Given the description of an element on the screen output the (x, y) to click on. 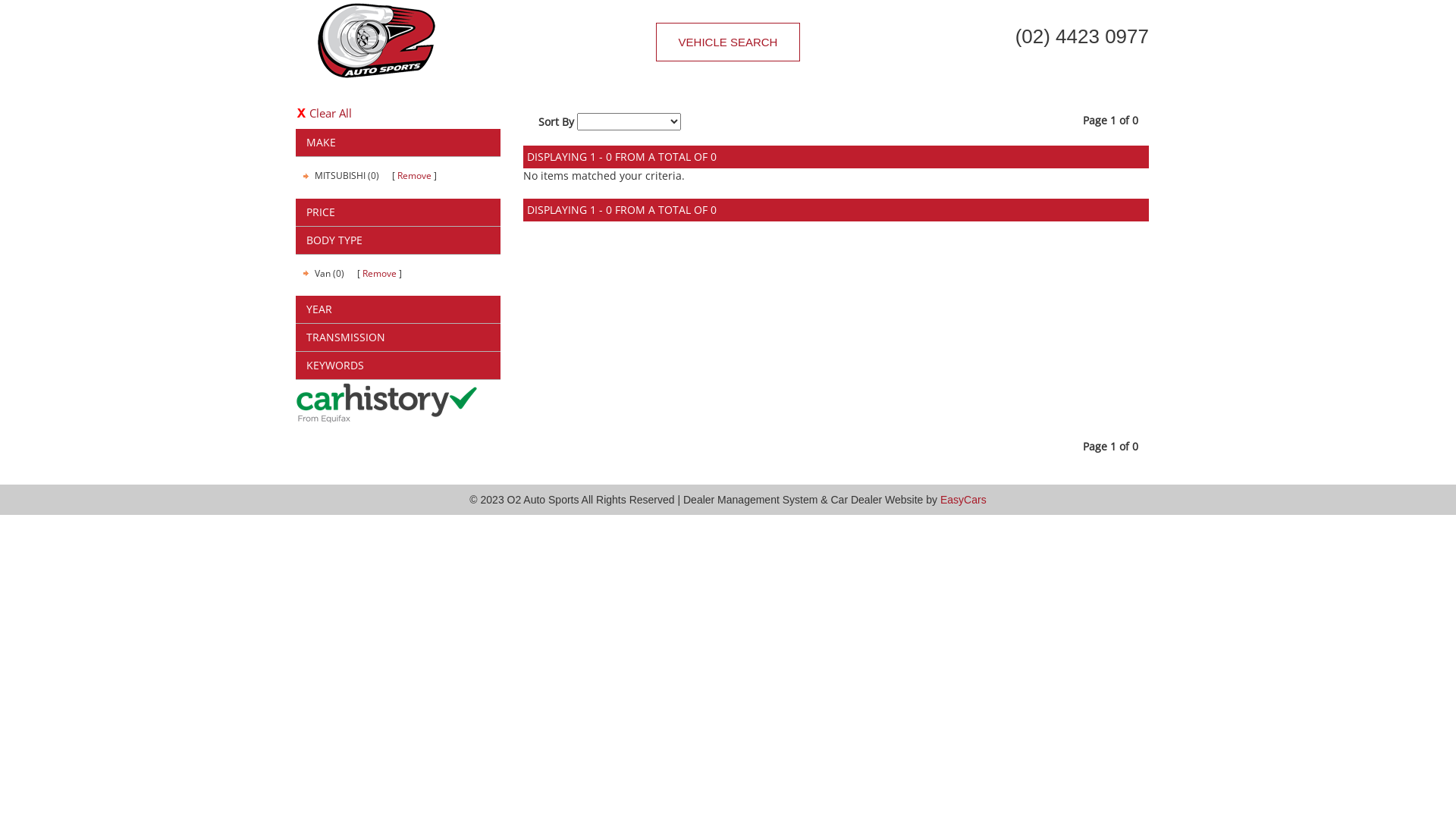
Remove Element type: text (414, 175)
Clear All Element type: text (397, 113)
VEHICLE SEARCH Element type: text (727, 41)
(02) 4423 0977 Element type: text (1015, 36)
EasyCars Element type: text (963, 499)
Remove Element type: text (379, 272)
